Given the description of an element on the screen output the (x, y) to click on. 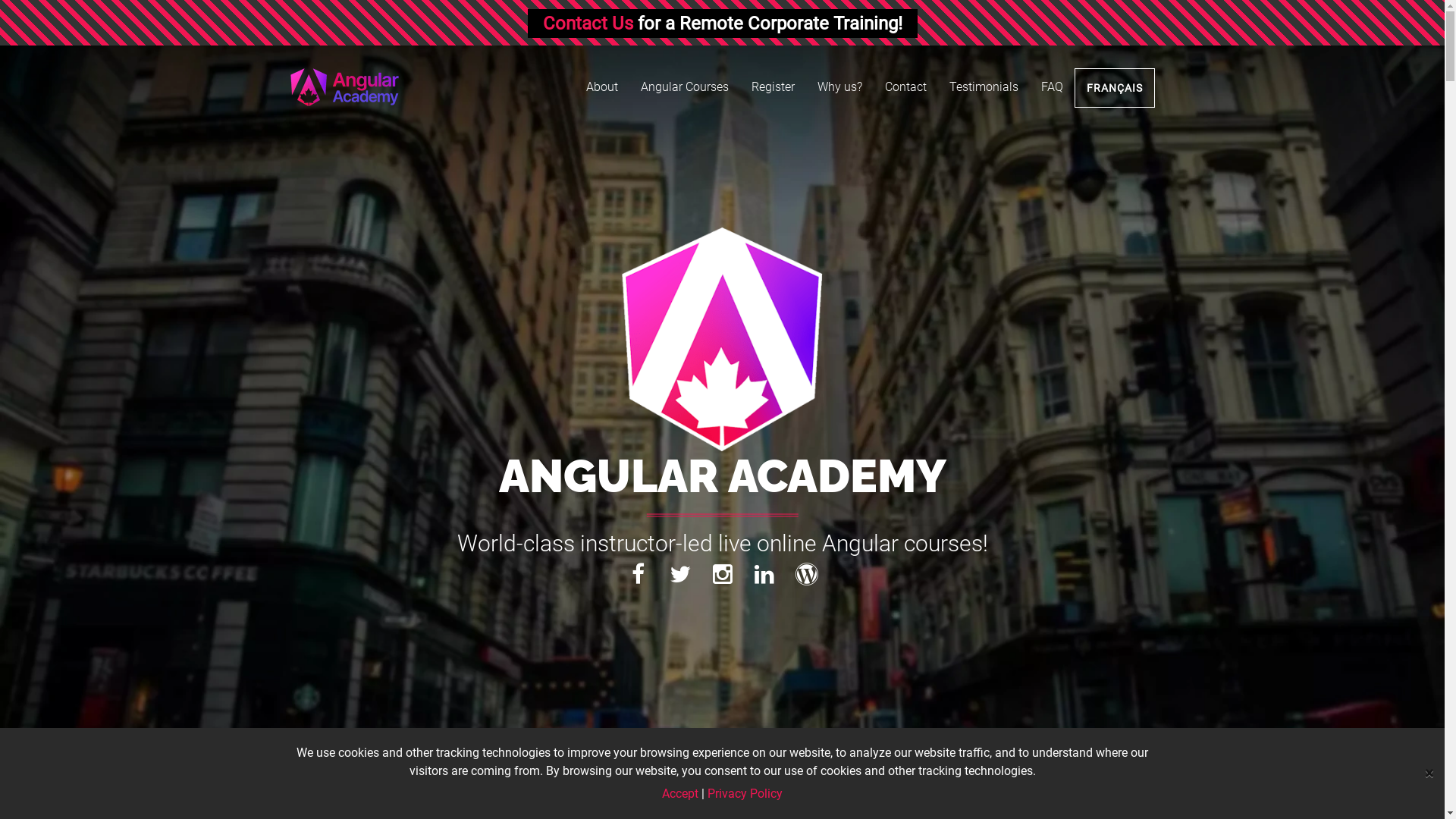
FAQ Element type: text (1051, 87)
Why us? Element type: text (838, 87)
Contact Element type: text (905, 87)
About Element type: text (601, 87)
Contact Us Element type: text (587, 23)
Privacy Policy Element type: text (744, 793)
Accept Element type: text (680, 793)
Testimonials Element type: text (983, 87)
Register Element type: text (773, 87)
Angular Courses Element type: text (684, 87)
